Given the description of an element on the screen output the (x, y) to click on. 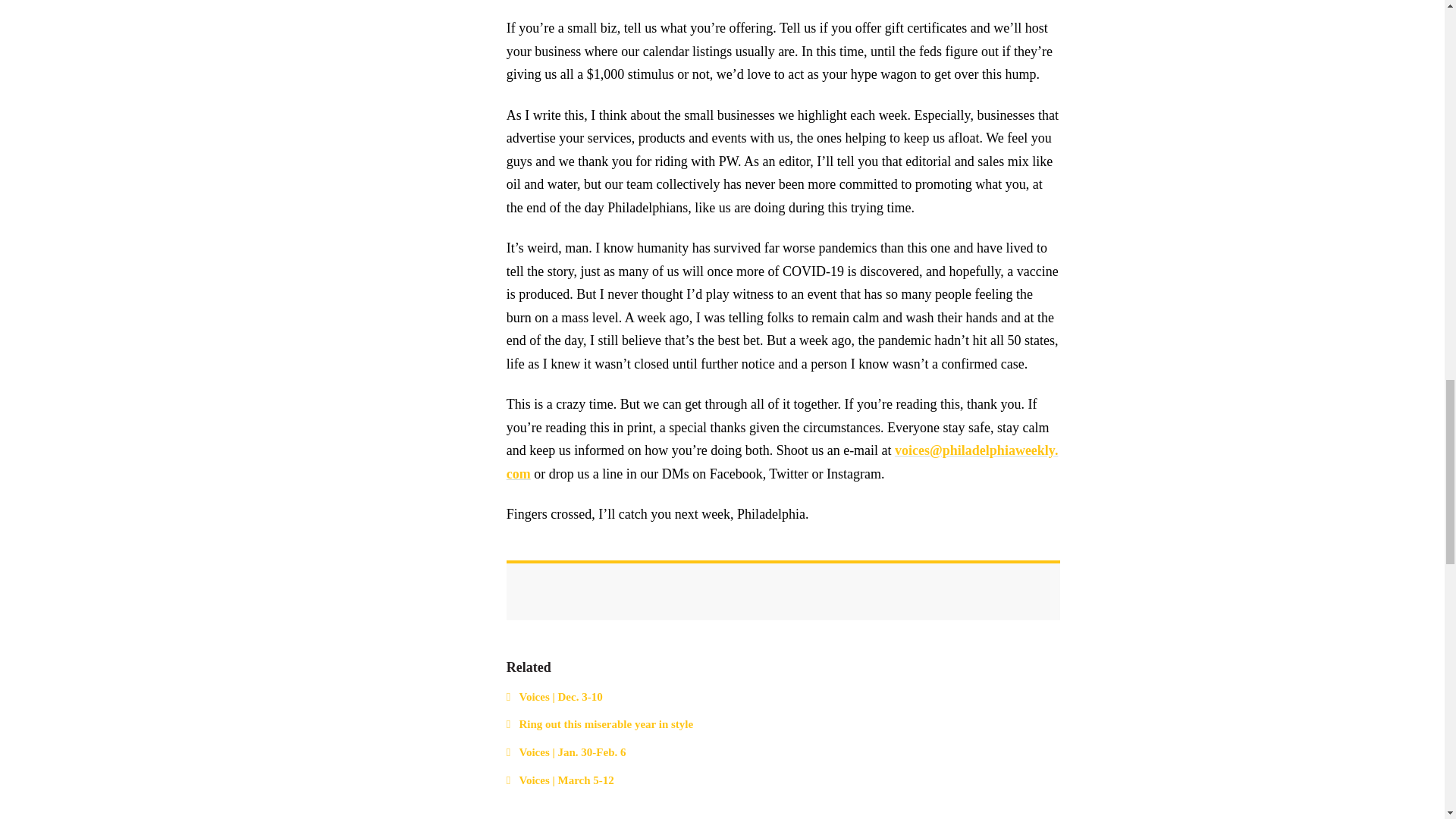
Permanent Link to Ring out this miserable year in style (605, 724)
